Given the description of an element on the screen output the (x, y) to click on. 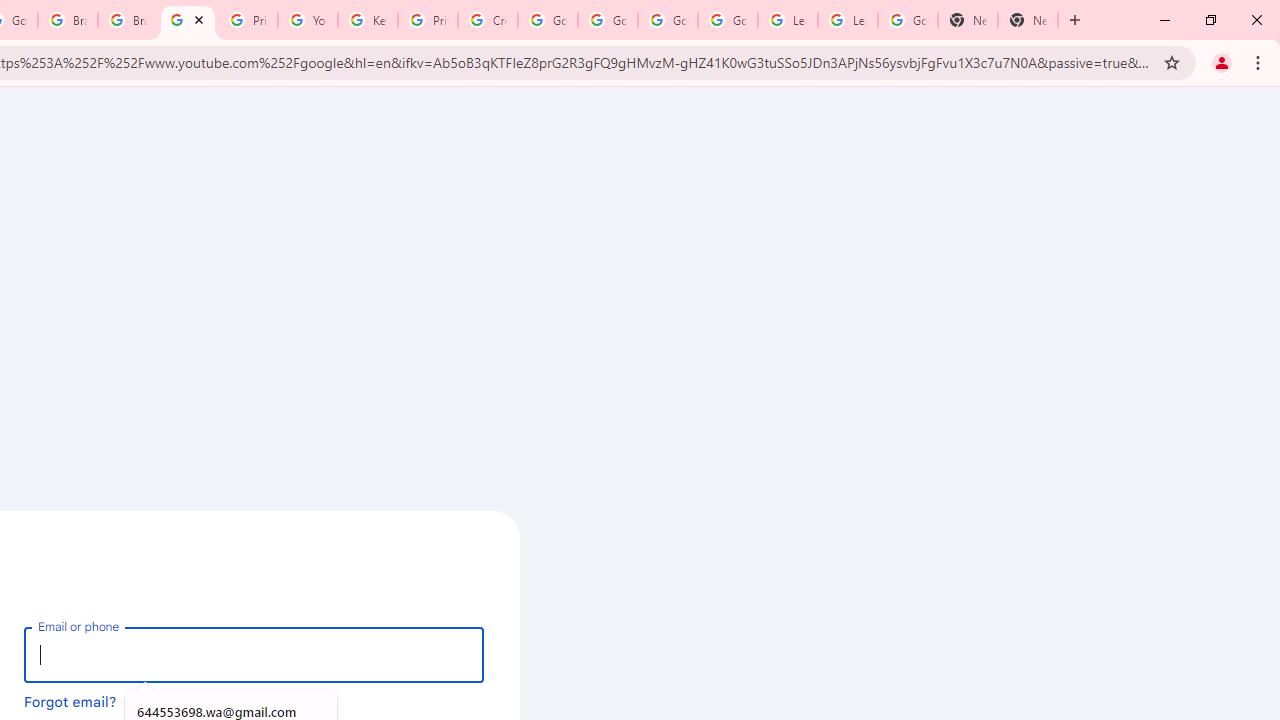
YouTube (187, 20)
Google Account Help (667, 20)
Forgot email? (70, 701)
Brand Resource Center (68, 20)
New Tab (1028, 20)
Email or phone (253, 654)
Create your Google Account (488, 20)
